Given the description of an element on the screen output the (x, y) to click on. 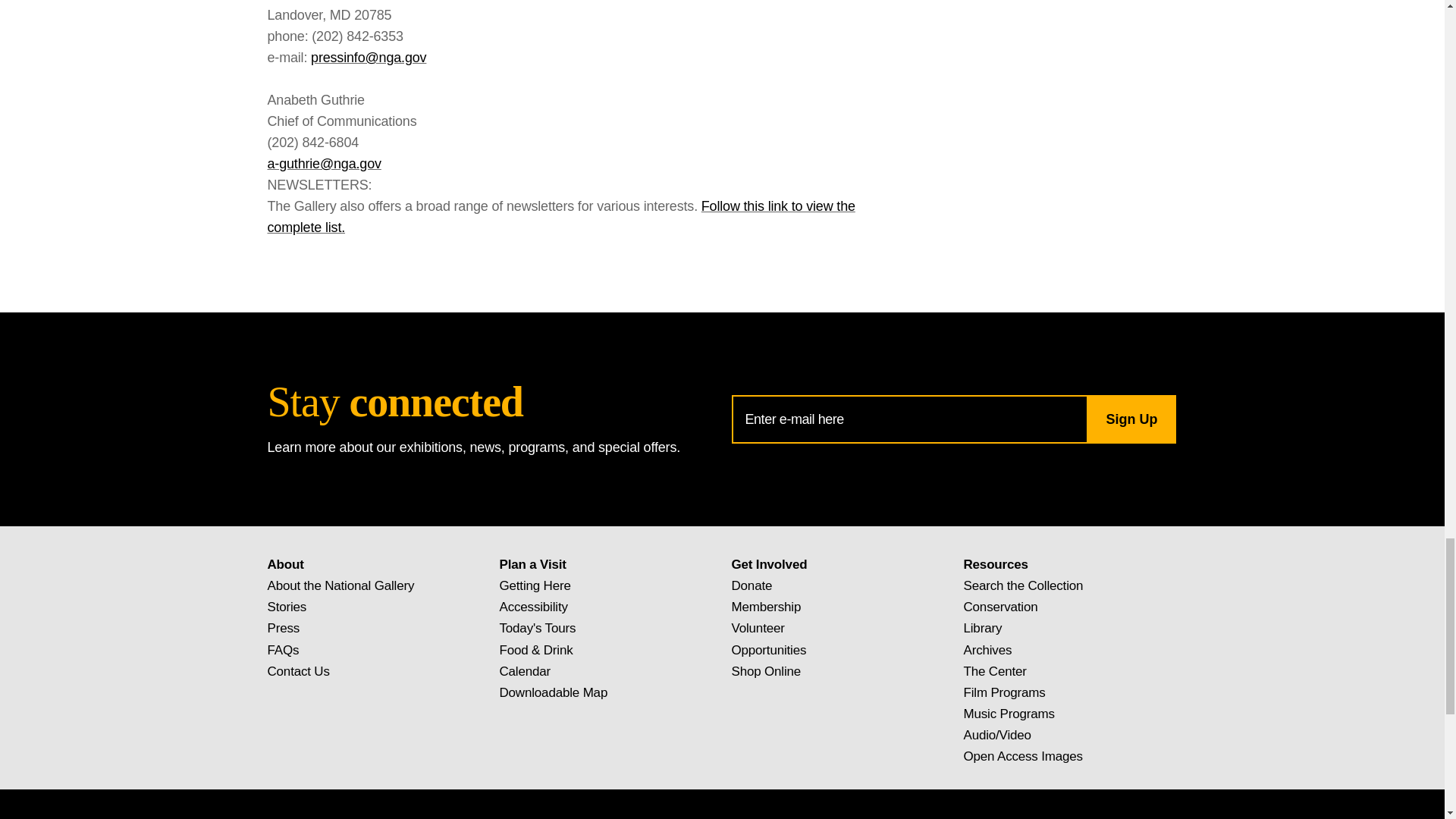
Sign Up (1130, 418)
